Given the description of an element on the screen output the (x, y) to click on. 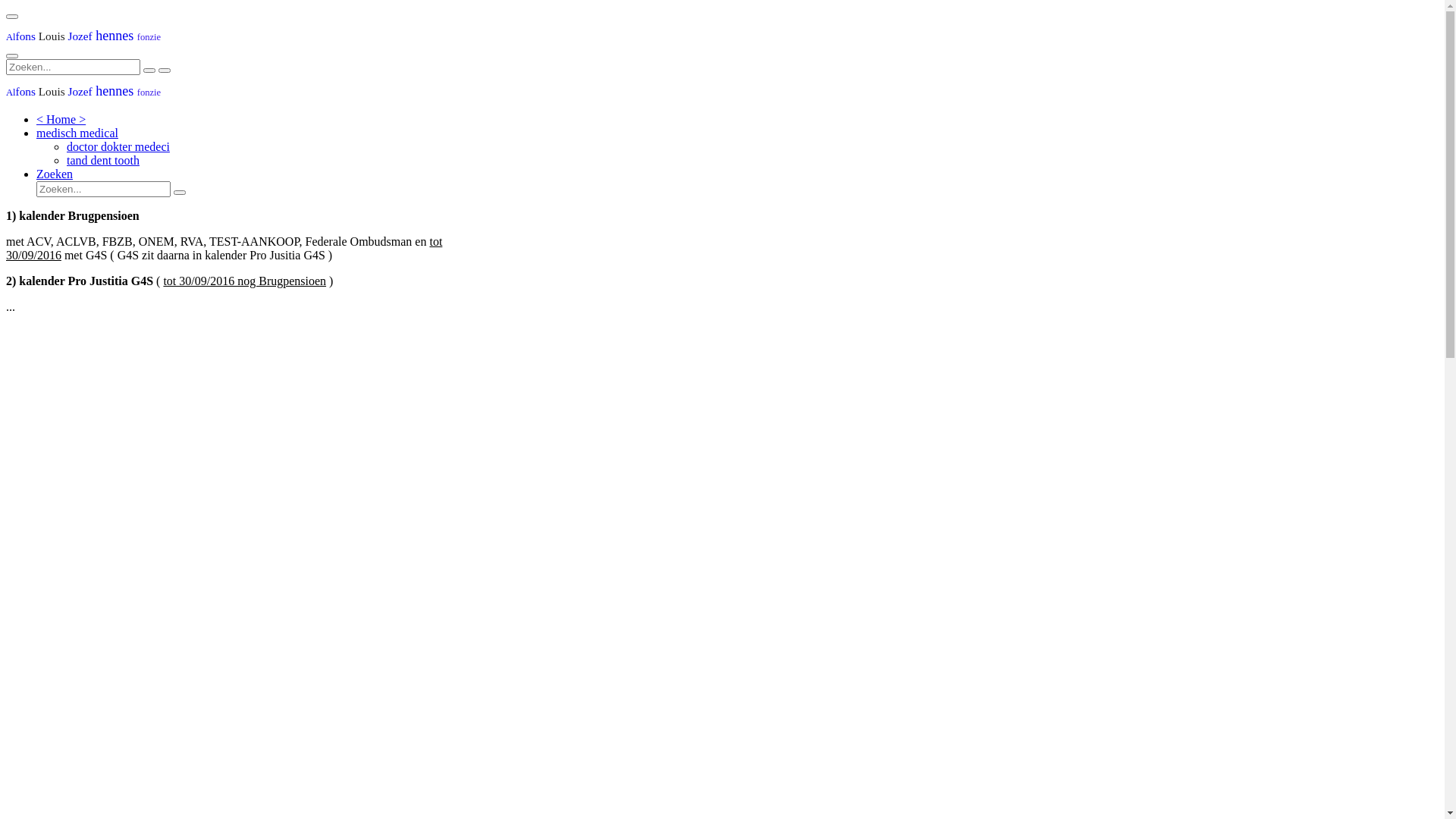
tand dent tooth Element type: text (102, 159)
medisch medical Element type: text (77, 132)
Alfons Louis Jozef hennes fonzie Element type: text (83, 35)
< Home > Element type: text (60, 118)
doctor dokter medeci Element type: text (117, 146)
Zoeken Element type: text (54, 173)
Alfons Louis Jozef hennes fonzie Element type: text (83, 90)
